Given the description of an element on the screen output the (x, y) to click on. 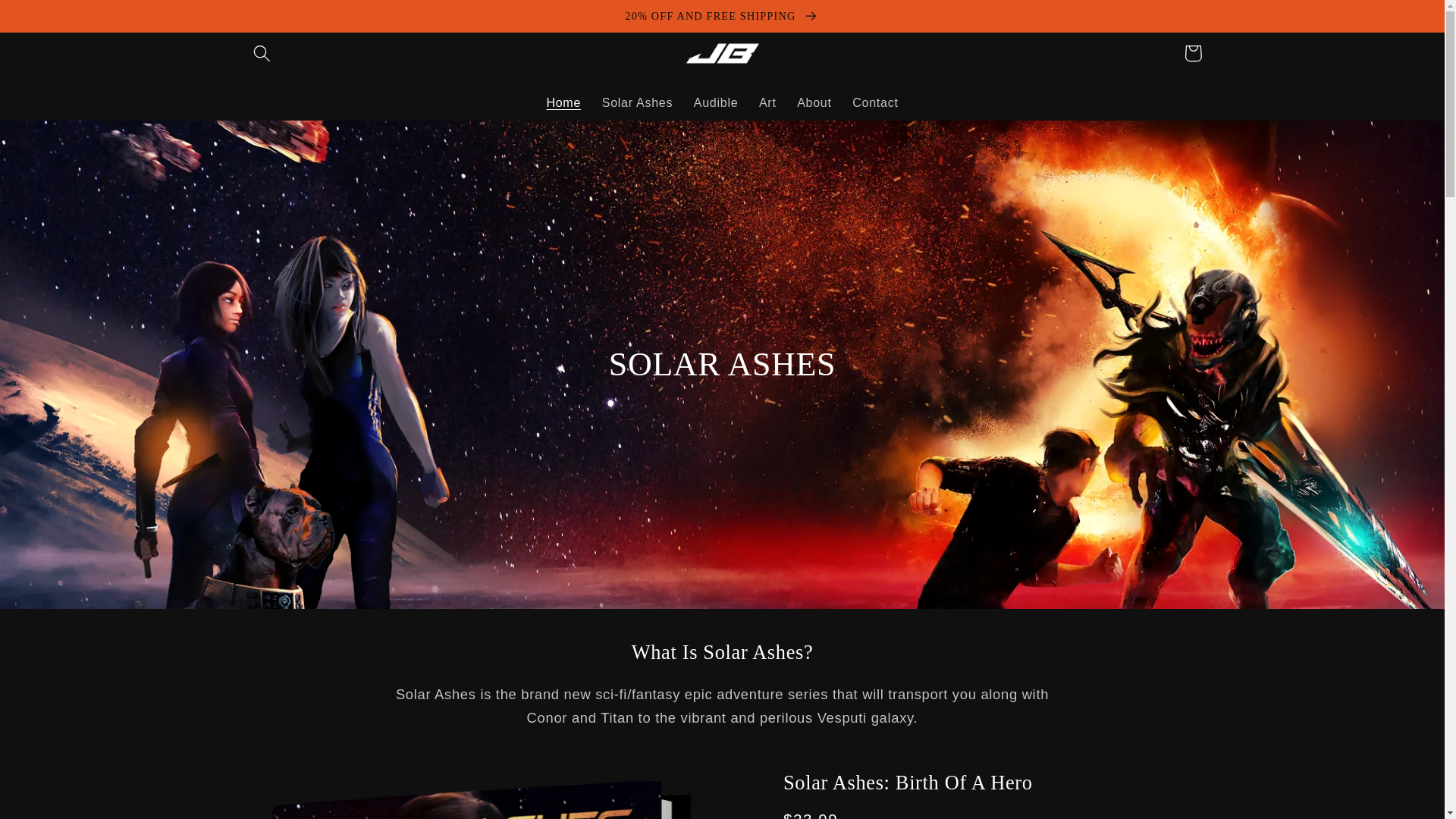
Cart (1192, 53)
Art (767, 102)
Contact (874, 102)
Solar Ashes (636, 102)
Home (563, 102)
Skip to content (52, 20)
About (813, 102)
Skip to product information (294, 789)
Audible (715, 102)
